Given the description of an element on the screen output the (x, y) to click on. 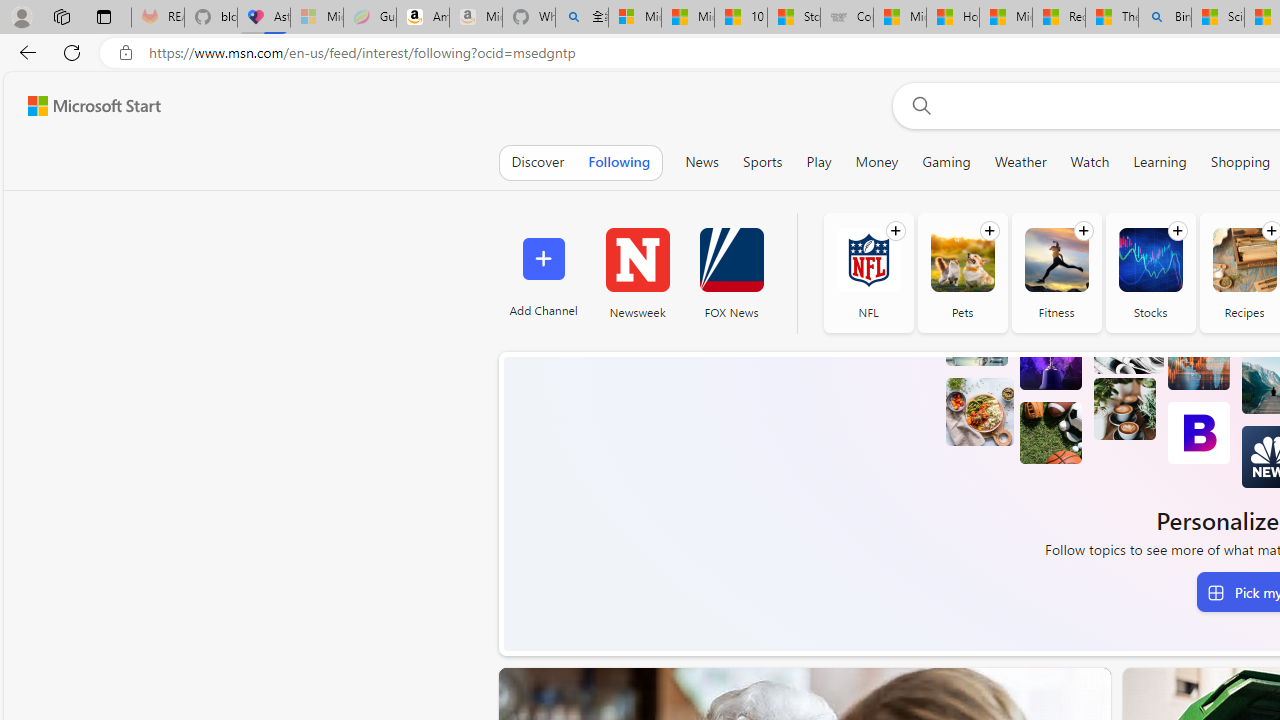
Shopping (1240, 161)
Stocks (1149, 260)
Newsweek (637, 260)
Follow channel (1177, 231)
